Given the description of an element on the screen output the (x, y) to click on. 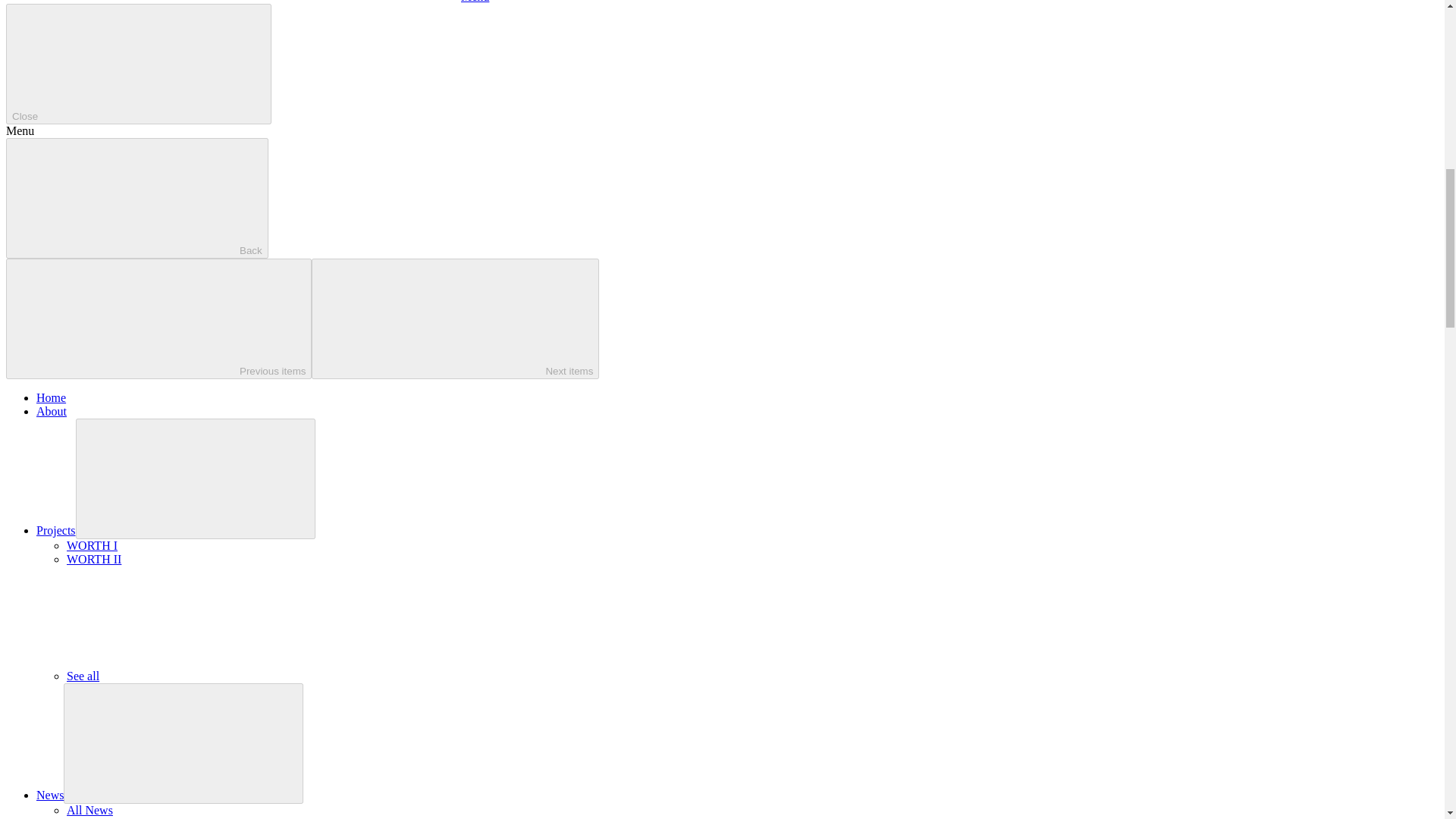
Projects (55, 530)
About (51, 410)
Home (50, 397)
Back (136, 198)
Next items (454, 318)
WORTH II (93, 558)
Close (137, 64)
Featured activities (110, 818)
All News (89, 809)
Previous items (158, 318)
